Given the description of an element on the screen output the (x, y) to click on. 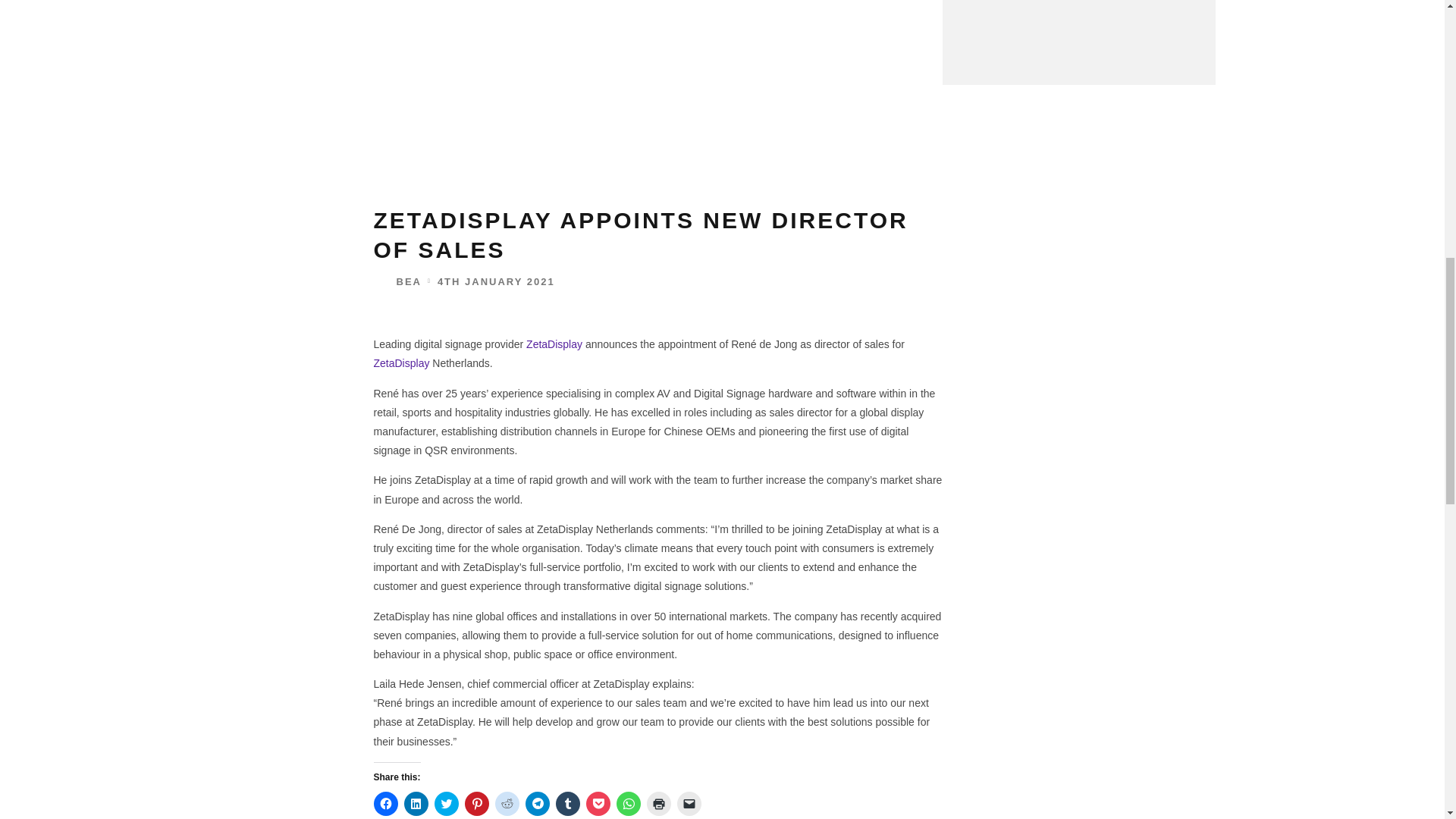
Click to share on Facebook (384, 803)
Click to share on Pinterest (475, 803)
Click to share on LinkedIn (415, 803)
BEA (396, 281)
Click to share on Twitter (445, 803)
